Given the description of an element on the screen output the (x, y) to click on. 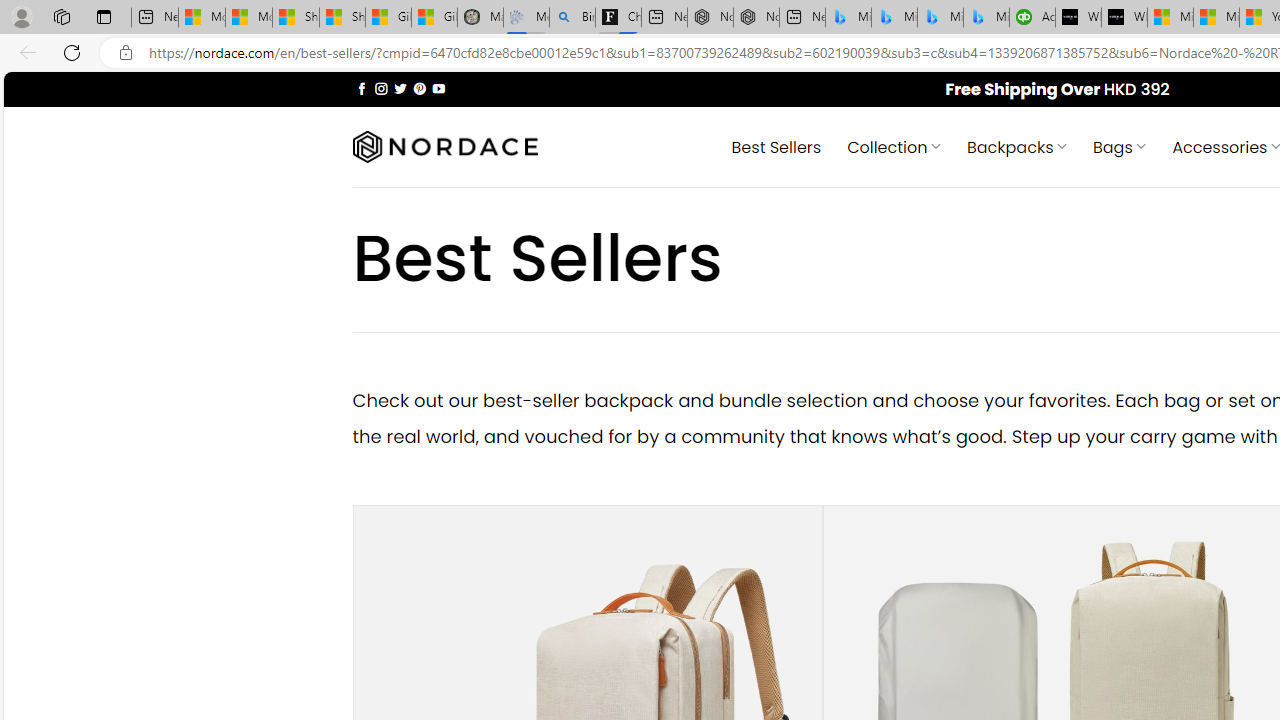
  Best Sellers (775, 146)
Bing Real Estate - Home sales and rental listings (572, 17)
Accounting Software for Accountants, CPAs and Bookkeepers (1031, 17)
Follow on Pinterest (419, 88)
Chloe Sorvino (618, 17)
Follow on Twitter (400, 88)
Microsoft Bing Travel - Shangri-La Hotel Bangkok (985, 17)
Follow on Facebook (361, 88)
